Given the description of an element on the screen output the (x, y) to click on. 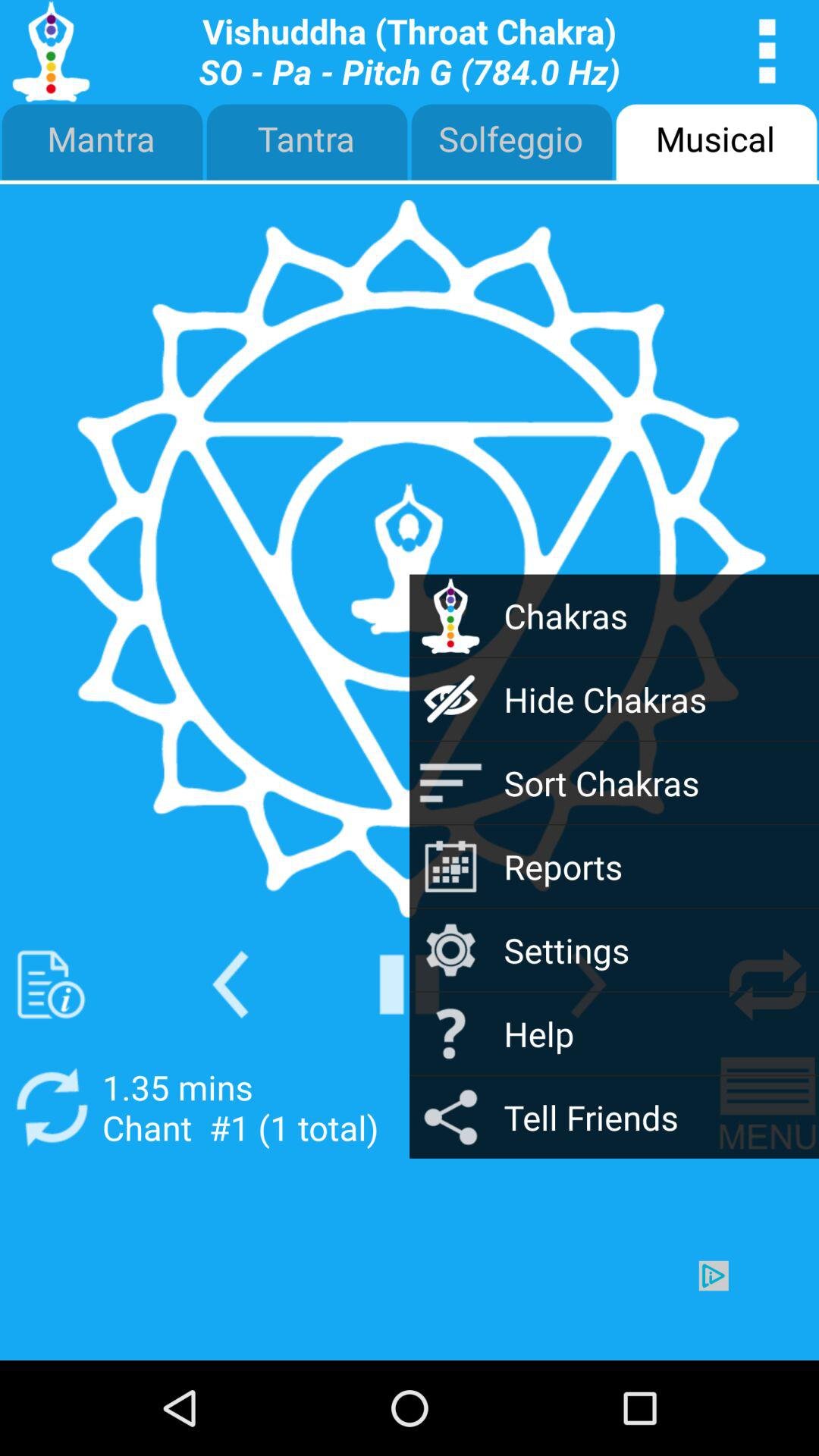
settings option (588, 984)
